Given the description of an element on the screen output the (x, y) to click on. 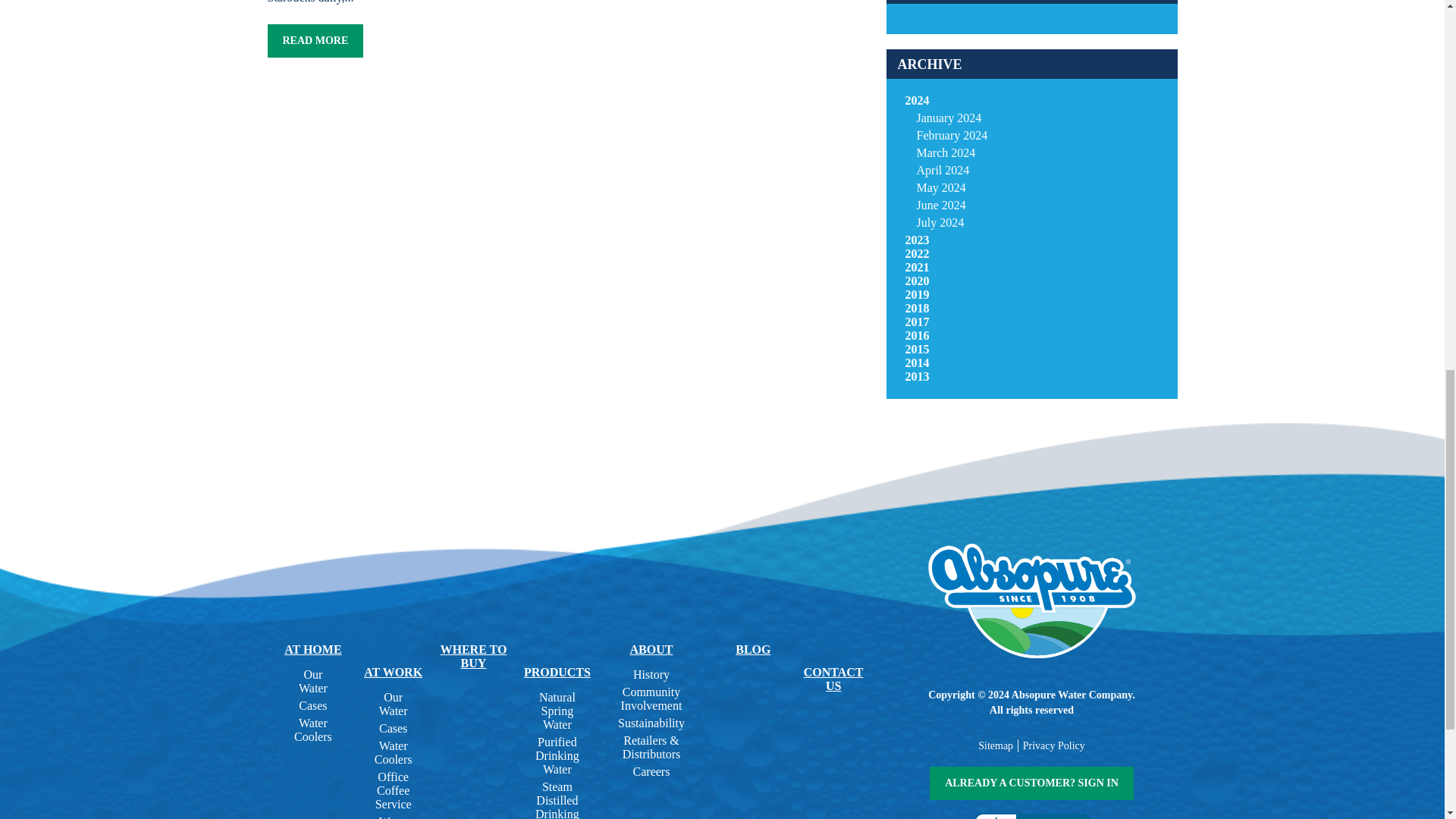
READ MORE (314, 40)
